Given the description of an element on the screen output the (x, y) to click on. 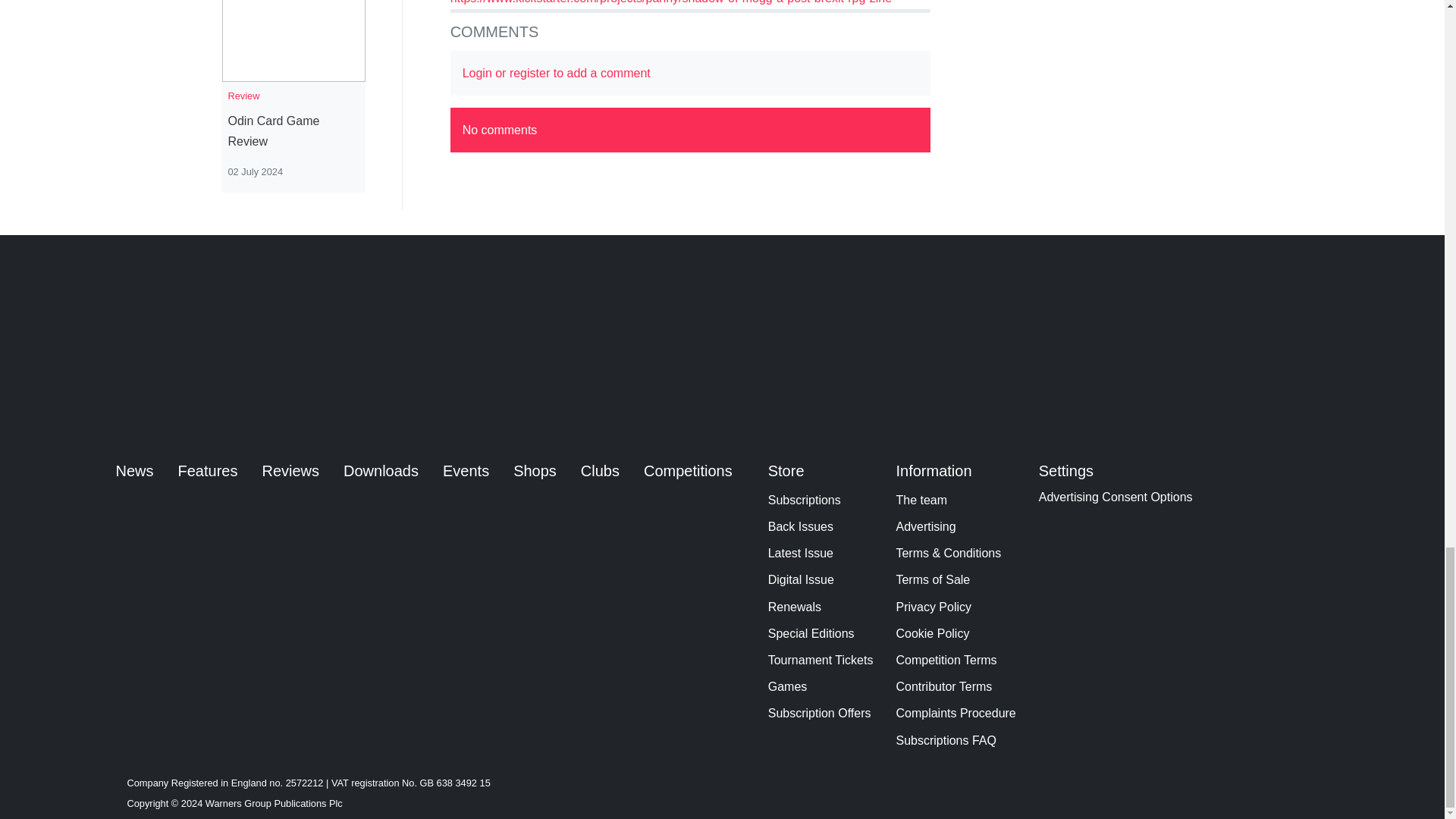
View your Advertising Consent options for this website (1115, 496)
